Given the description of an element on the screen output the (x, y) to click on. 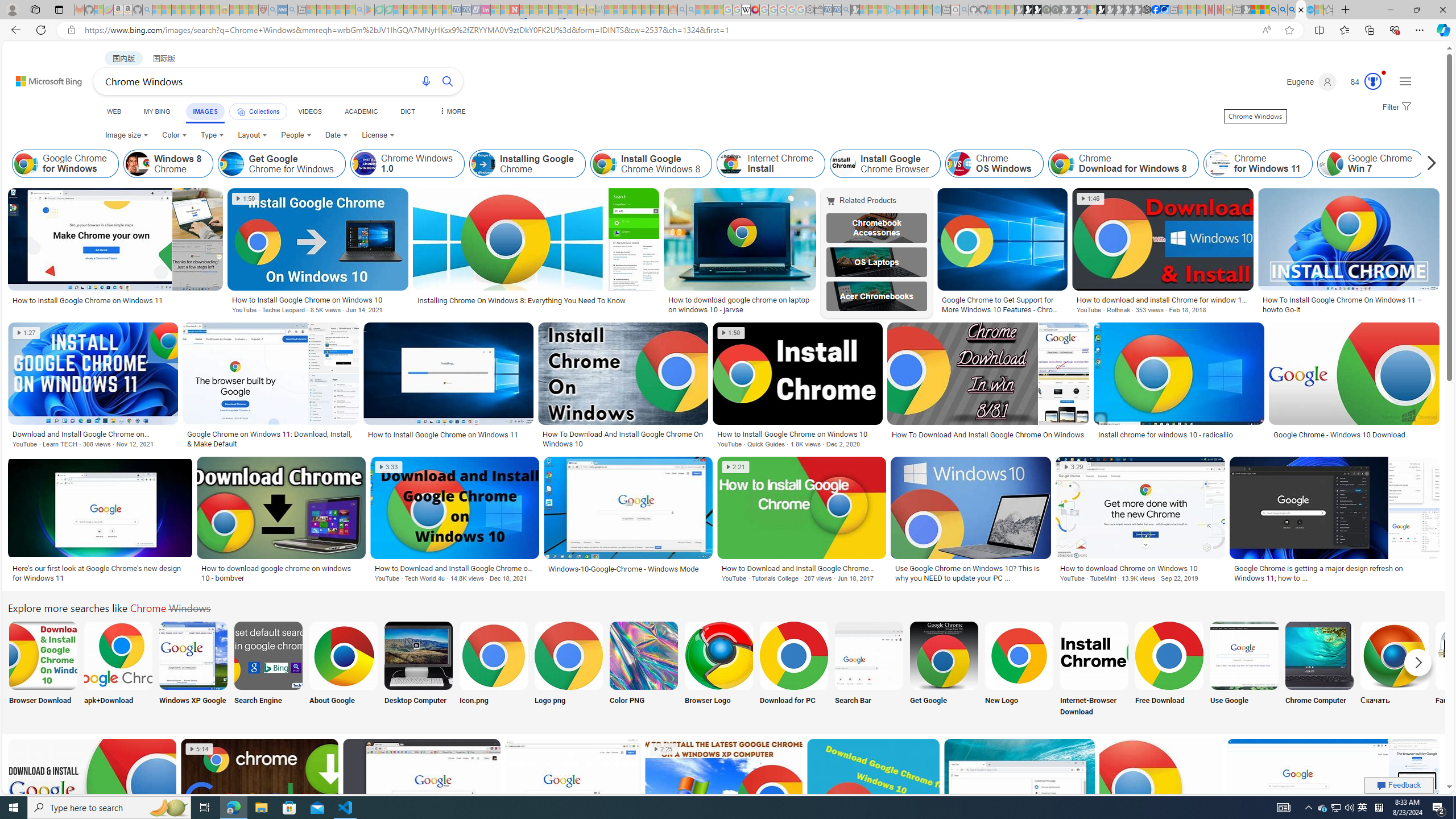
Icon.png (493, 669)
How to Install Google Chrome on Windows 11Save (451, 387)
Microsoft account | Privacy - Sleeping (882, 9)
Chrome OS Windows (959, 163)
Chrome apk+Download apk+Download (118, 669)
Chrome Search Engine Search Engine (268, 669)
People (295, 135)
Pets - MSN - Sleeping (340, 9)
Nordace - Cooler Bags (1146, 9)
